Given the description of an element on the screen output the (x, y) to click on. 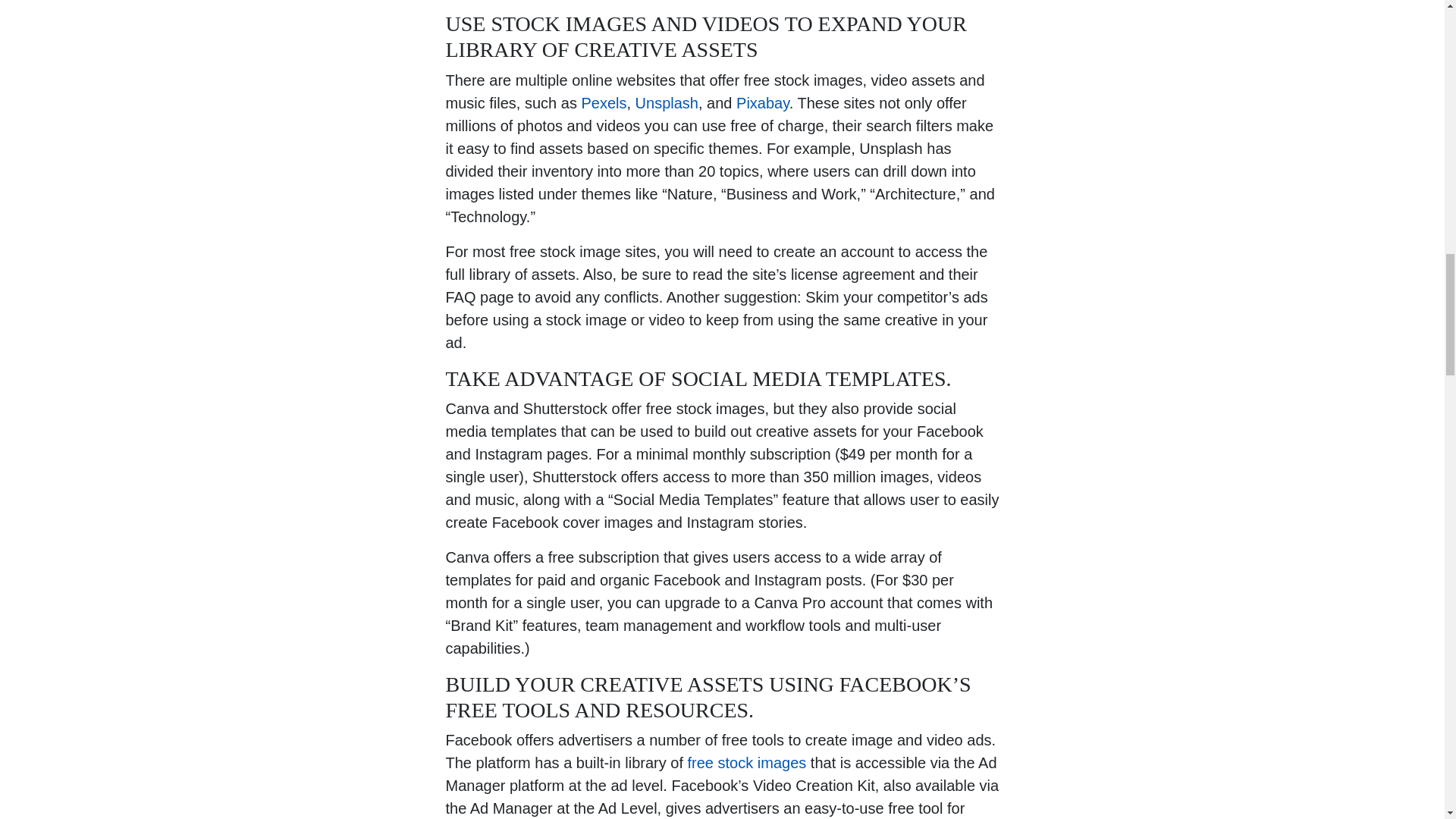
free stock images (746, 762)
Pixabay (762, 102)
Unsplash (666, 102)
Pexels (603, 102)
